Given the description of an element on the screen output the (x, y) to click on. 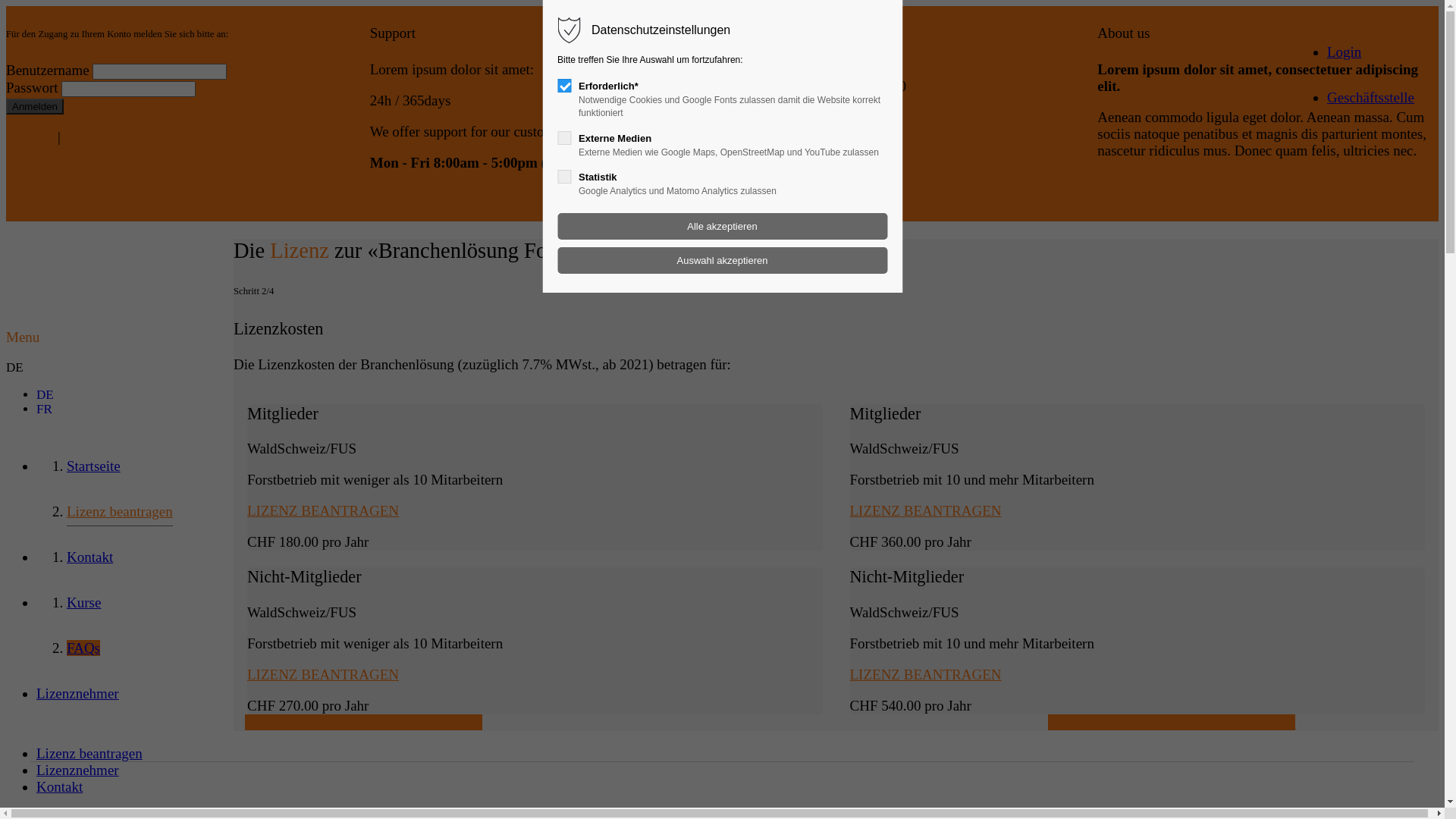
Lizenznehmer Element type: text (77, 770)
DE Element type: text (44, 394)
Kurse Element type: text (83, 602)
Lizenz beantragen Element type: text (119, 514)
Auswahl akzeptieren Element type: text (722, 260)
Lost your password? Element type: text (124, 136)
Kontakt Element type: text (59, 786)
LIZENZ BEANTRAGEN Element type: text (925, 674)
LIZENZ BEANTRAGEN Element type: text (322, 674)
FAQs Element type: text (83, 647)
Kontakt Element type: text (89, 556)
Startseite Element type: text (93, 465)
LIZENZ BEANTRAGEN Element type: text (322, 510)
Lizenznehmer Element type: text (77, 693)
WEITER ZU LIZENZBESTIMMUNGEN Element type: text (1171, 722)
FR Element type: text (44, 408)
Lizenz beantragen Element type: text (89, 753)
info@yourdomain.com Element type: text (801, 198)
Register Element type: text (29, 136)
Alle akzeptieren Element type: text (722, 226)
Anmelden Element type: text (34, 106)
LIZENZ BEANTRAGEN Element type: text (925, 510)
Login Element type: text (1344, 51)
